Given the description of an element on the screen output the (x, y) to click on. 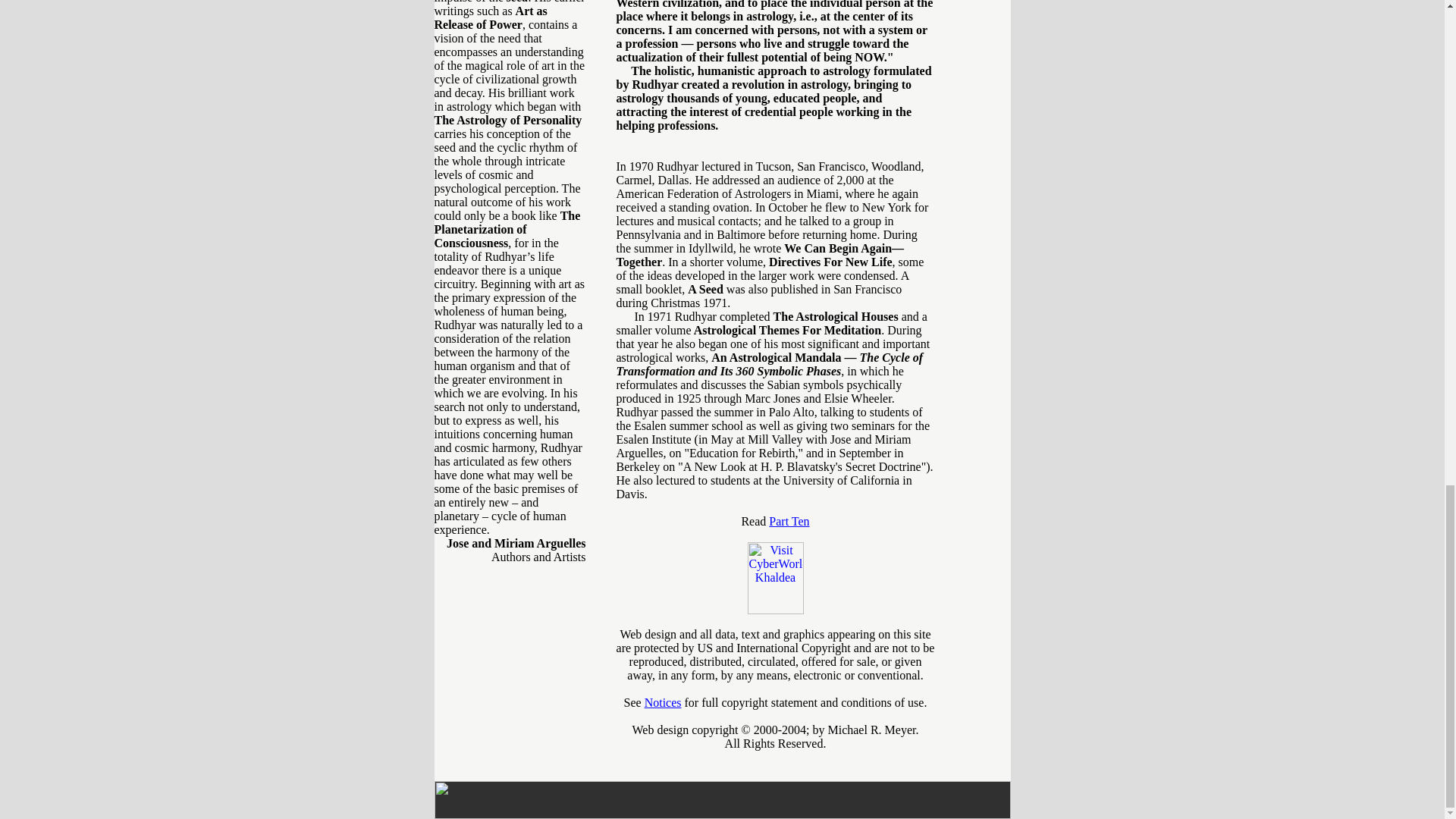
Notices (663, 702)
Part Ten (788, 521)
